Given the description of an element on the screen output the (x, y) to click on. 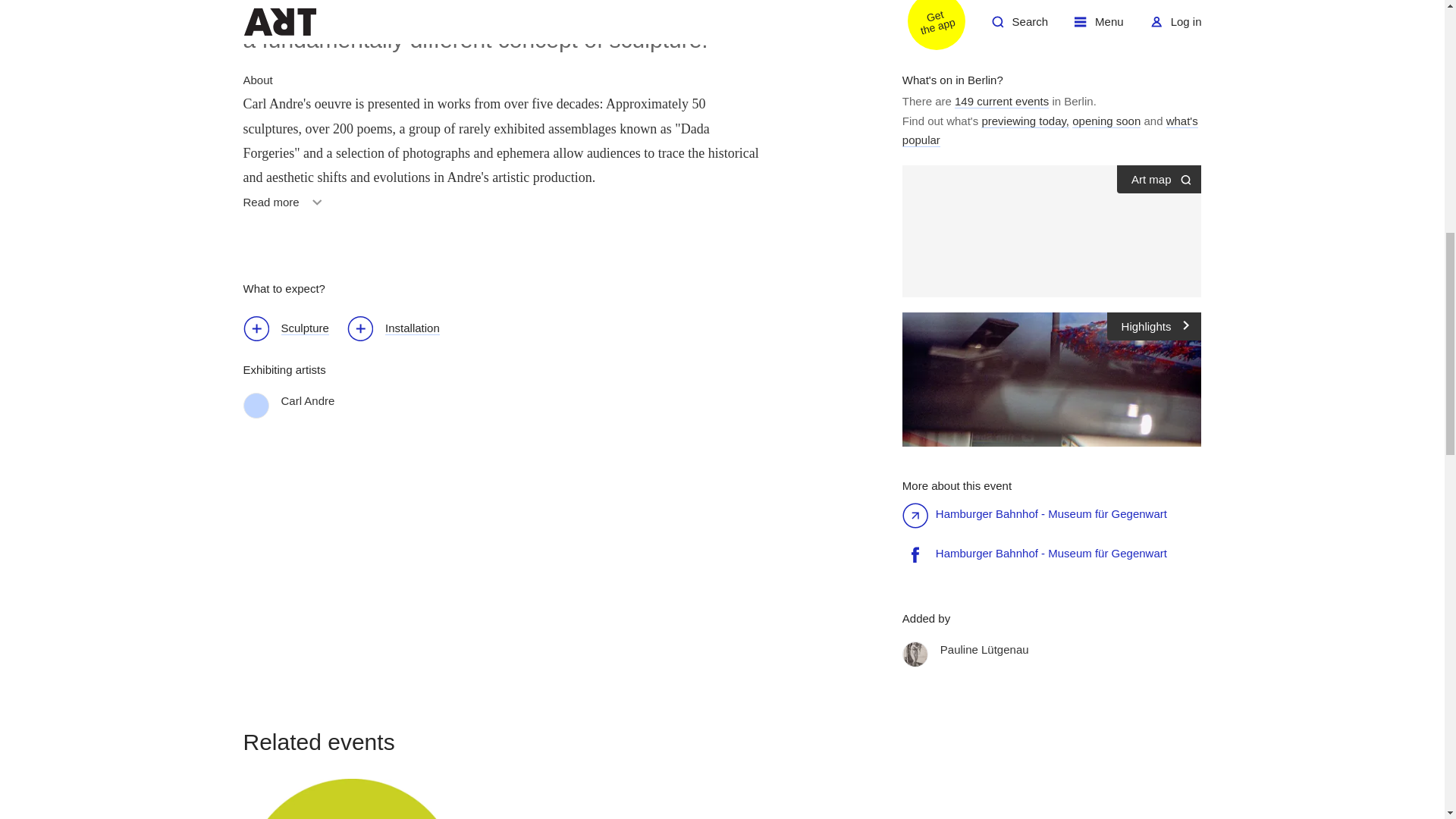
Sculpture (293, 330)
Installation (286, 207)
